Given the description of an element on the screen output the (x, y) to click on. 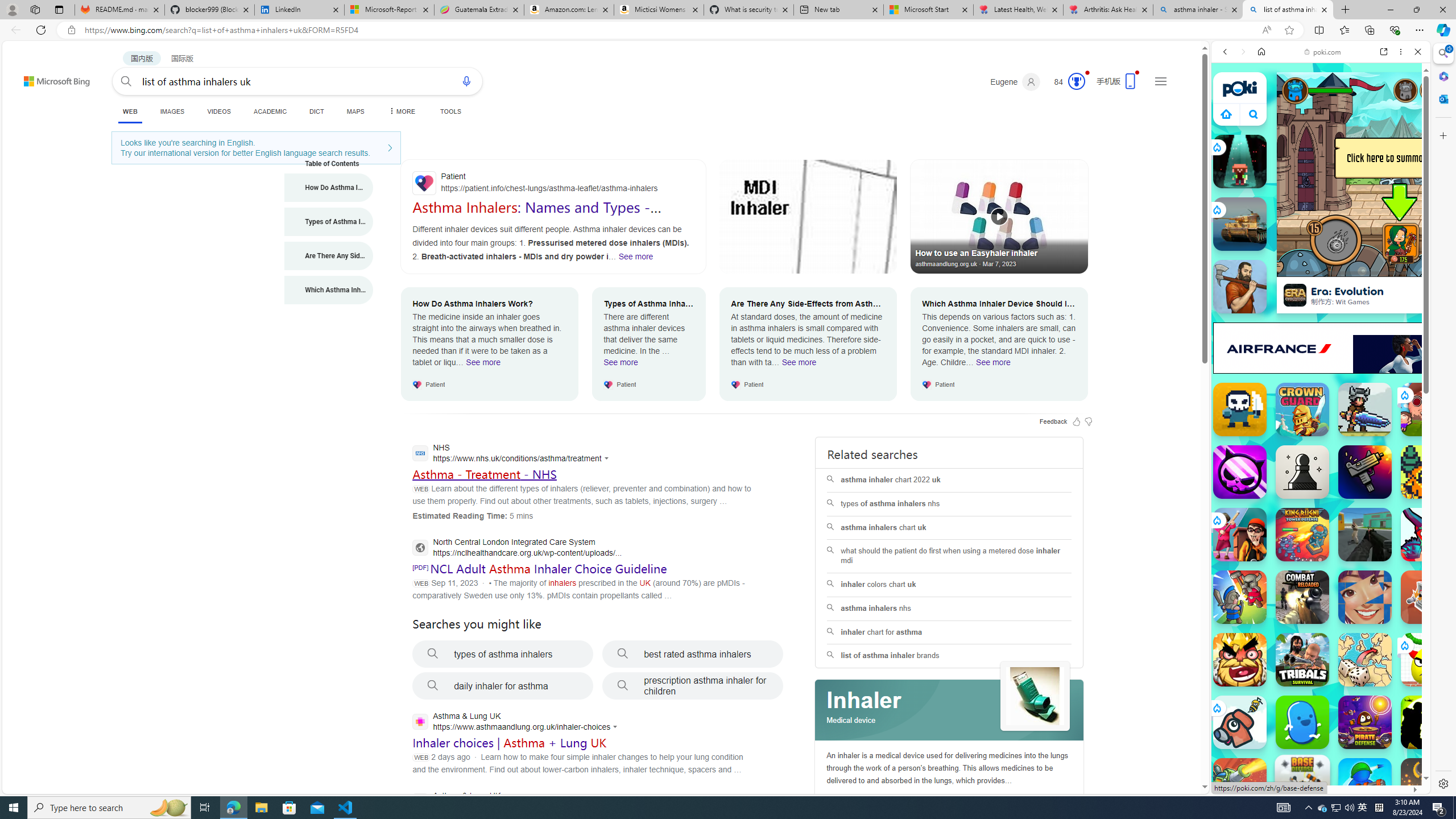
Combat Reloaded Combat Reloaded (1302, 597)
daily inhaler for asthma (503, 685)
Draw To Smash: Logic Puzzle (1427, 659)
asthma inhaler chart 2022 uk (949, 480)
list of asthma inhaler brands (949, 656)
Quivershot (1239, 161)
Feedback Like (1076, 420)
Hills of Steel (1264, 523)
Class: B_5ykBA46kDOxiz_R9wm (1253, 113)
